Given the description of an element on the screen output the (x, y) to click on. 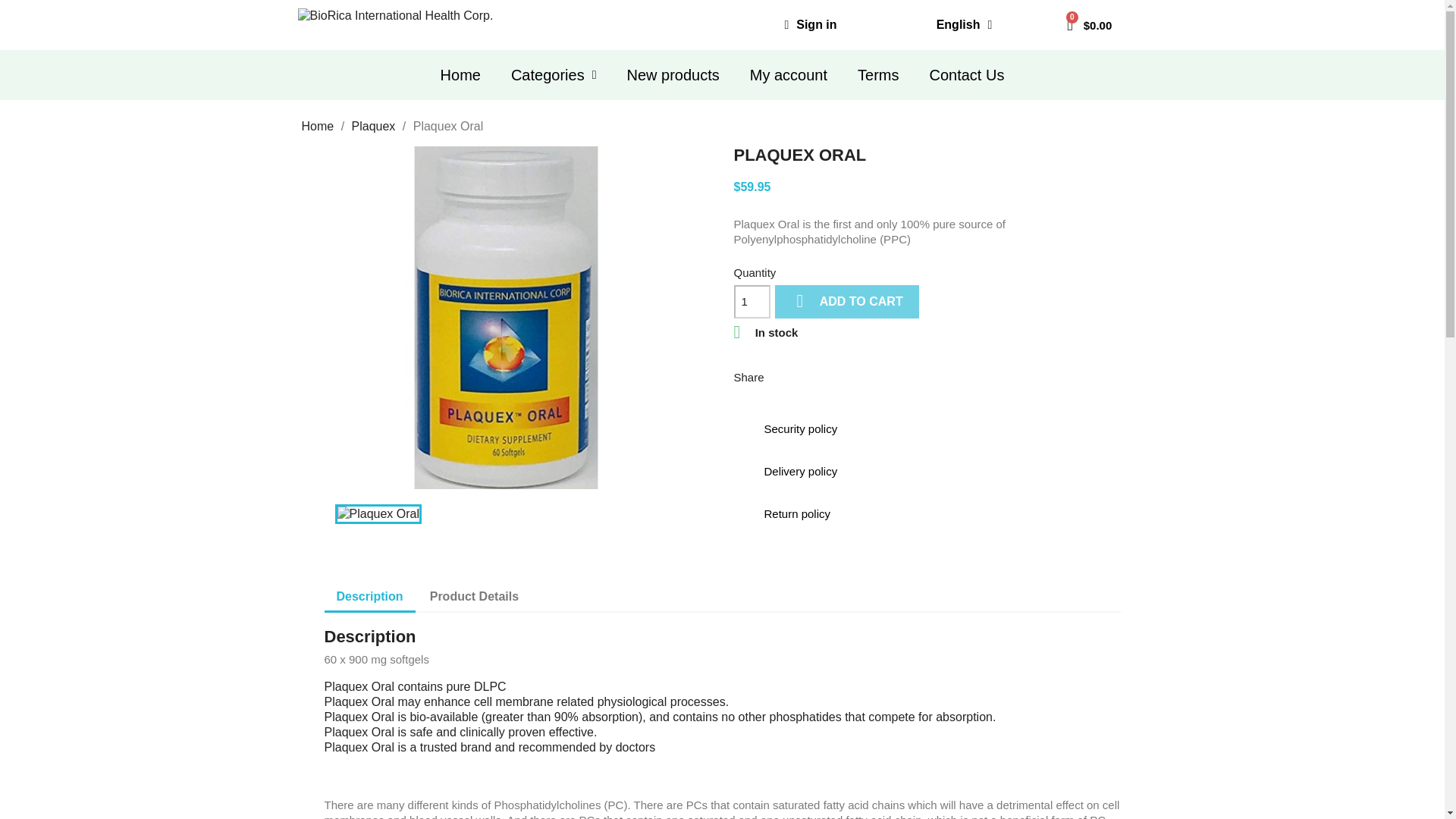
New products (672, 74)
Plaquex Oral (378, 514)
Categories (553, 74)
English (964, 24)
1 (751, 301)
Sign in (809, 24)
Contact Us (966, 74)
My account (789, 74)
Share (785, 376)
Home (460, 74)
